Given the description of an element on the screen output the (x, y) to click on. 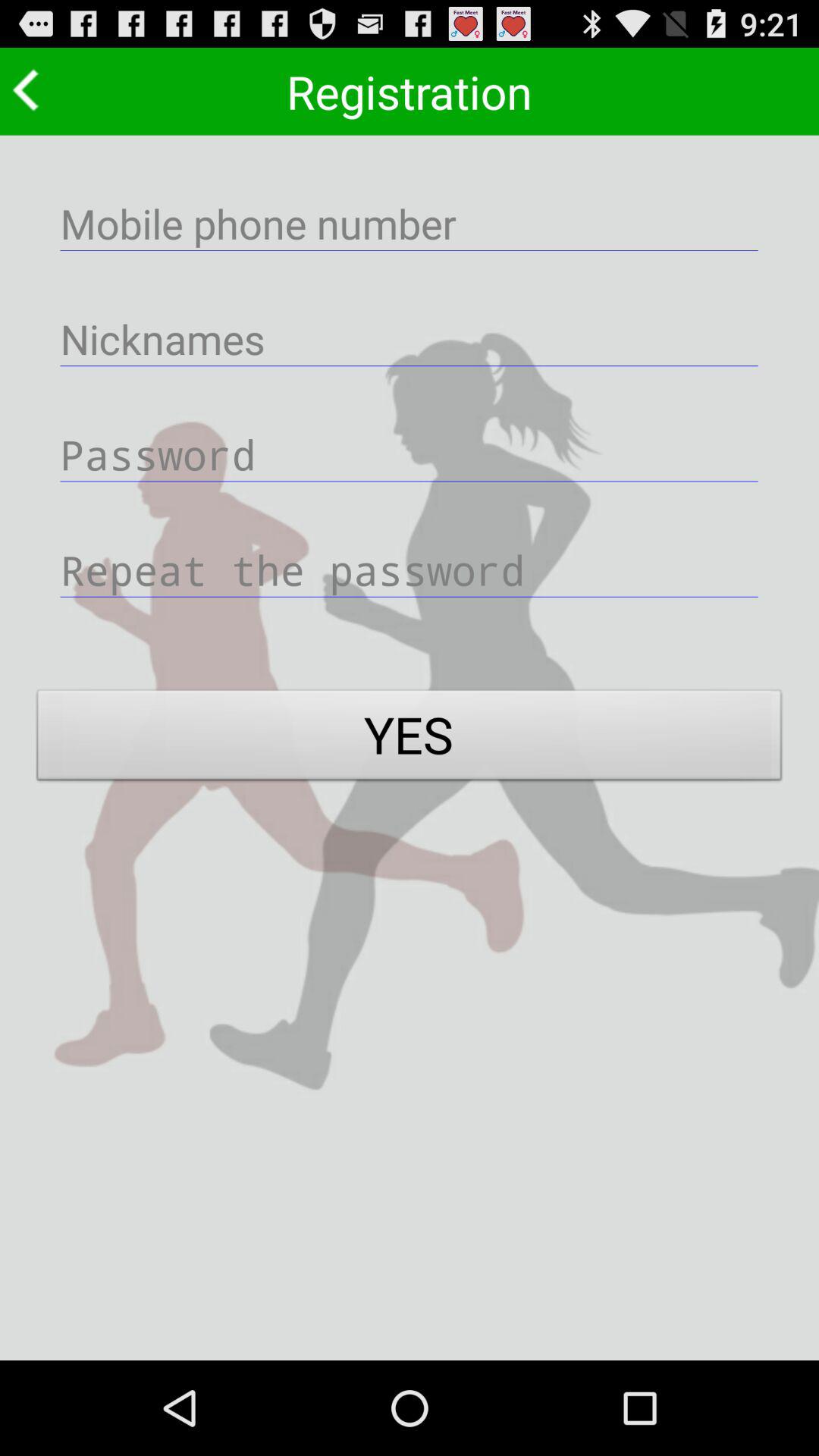
go back (29, 89)
